Given the description of an element on the screen output the (x, y) to click on. 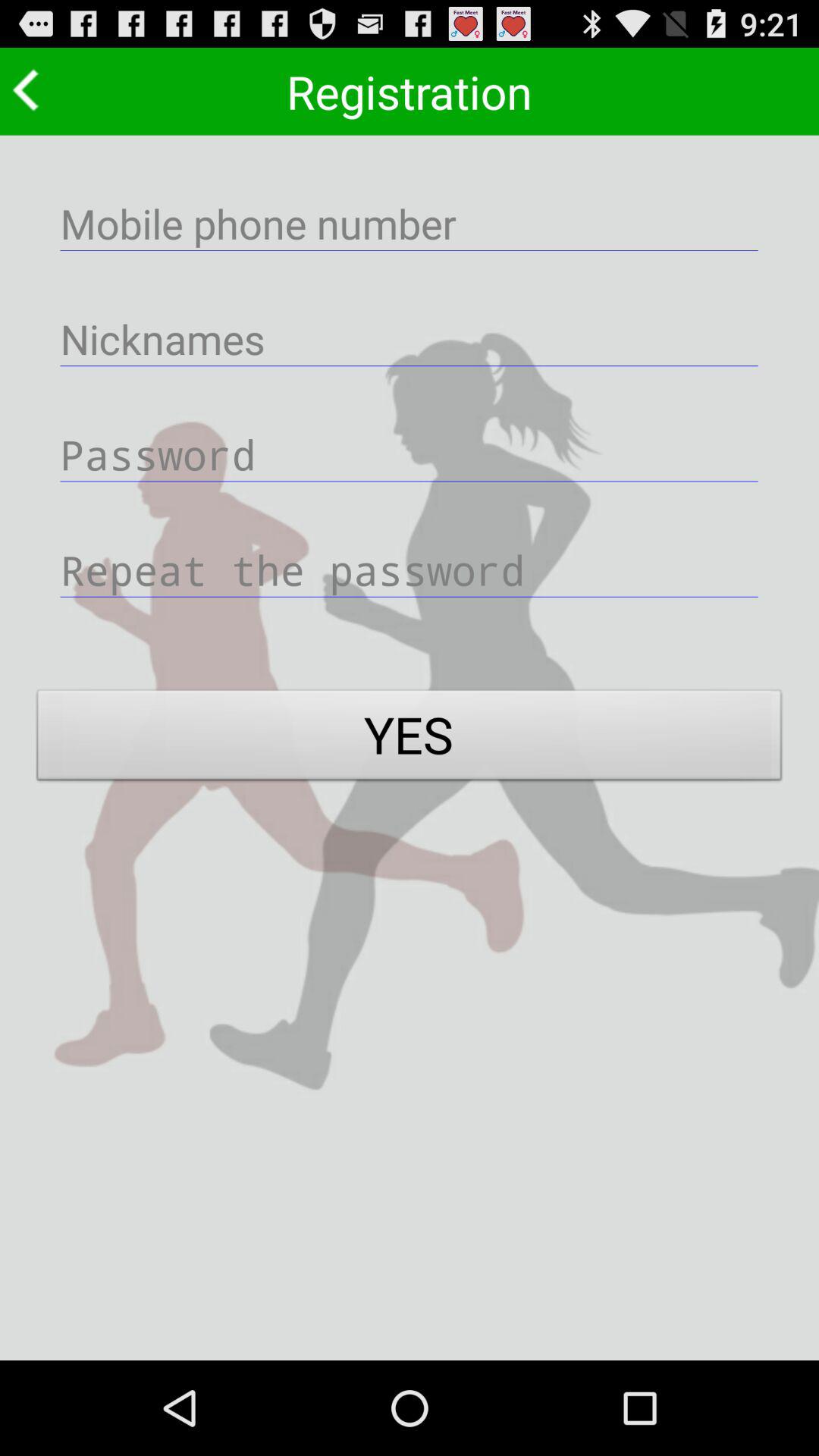
go back (29, 89)
